Given the description of an element on the screen output the (x, y) to click on. 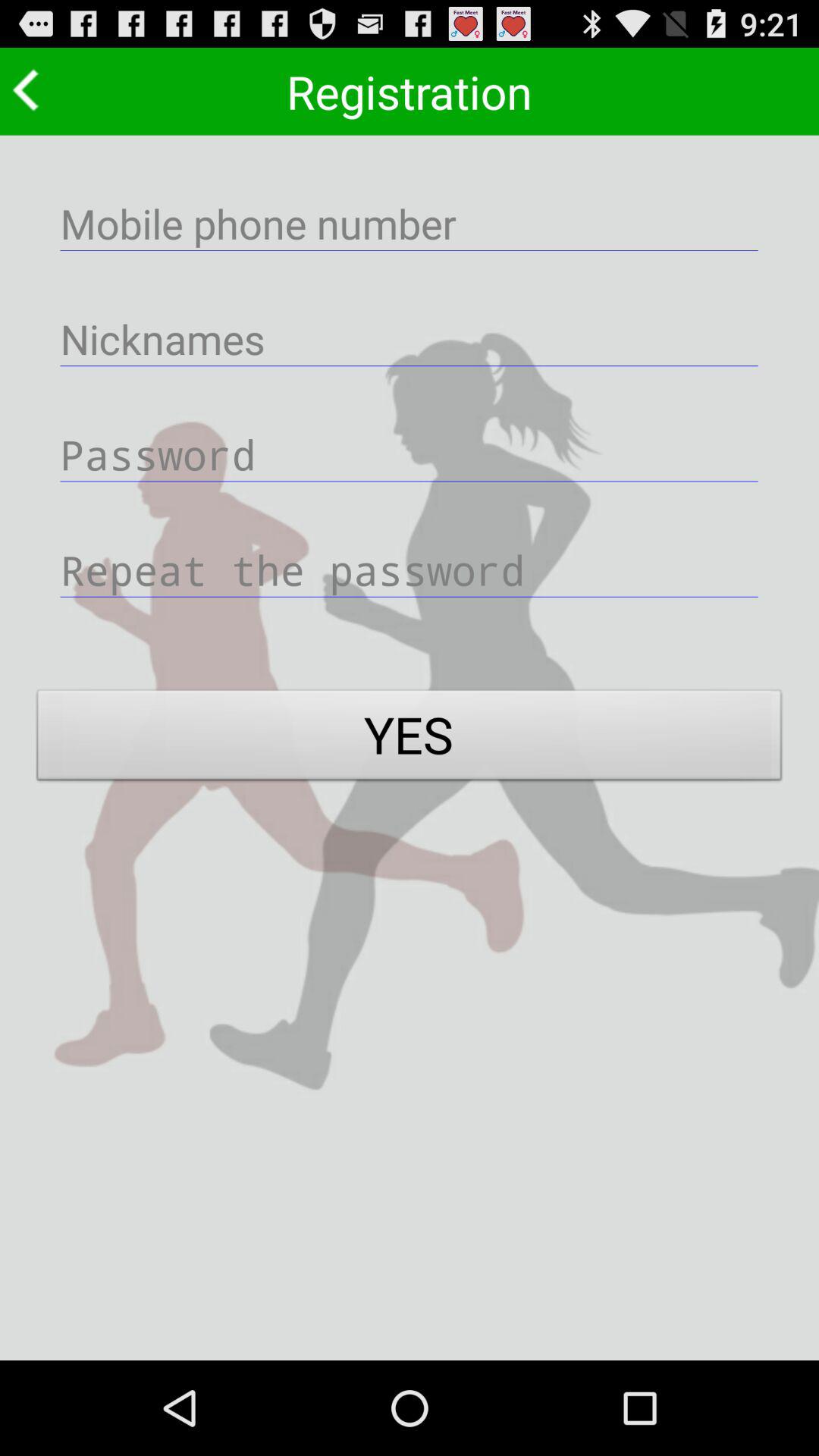
go back (29, 89)
